Given the description of an element on the screen output the (x, y) to click on. 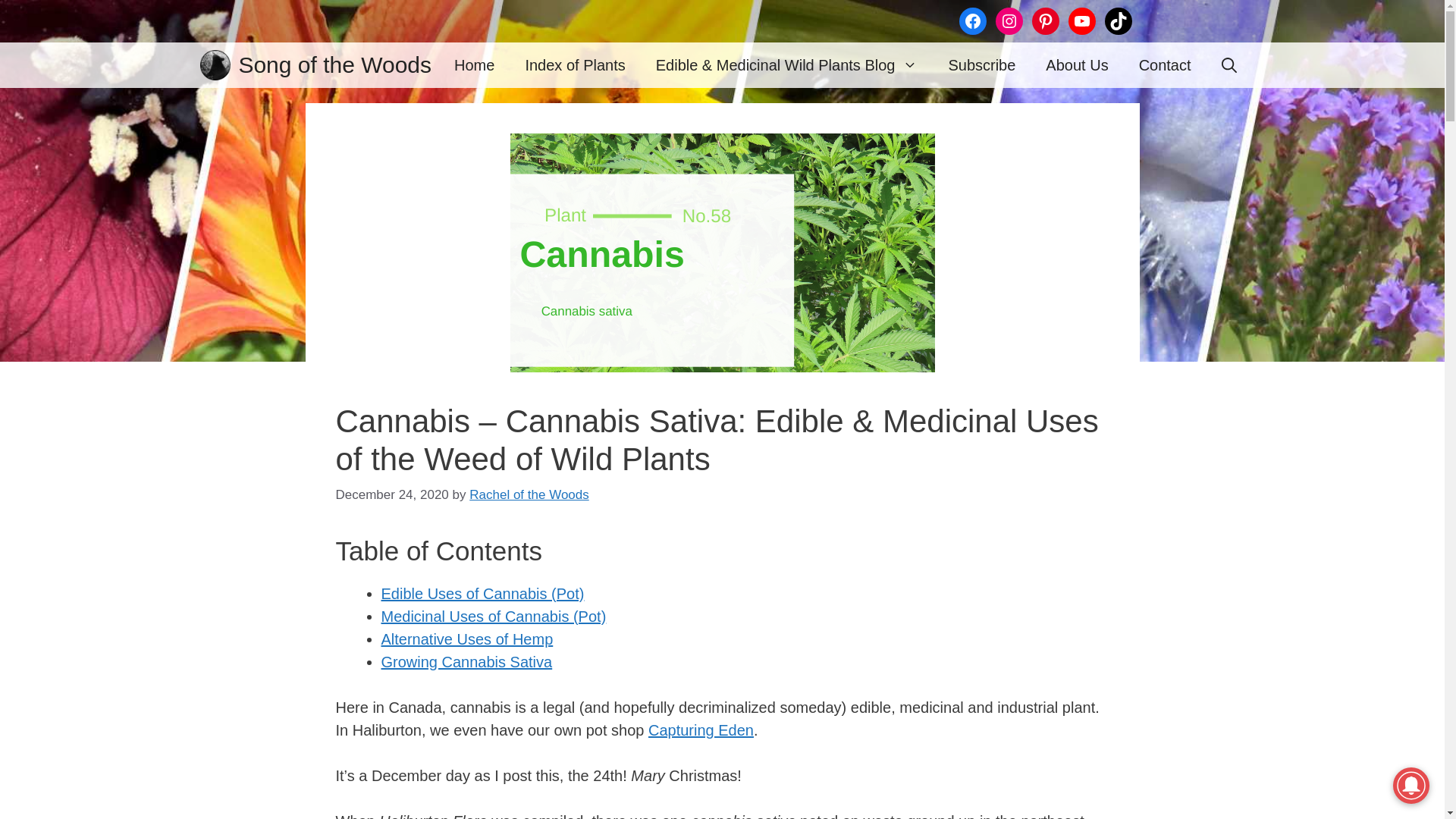
View all posts by Rachel of the Woods (528, 494)
Song of the Woods (334, 64)
Pinterest (1044, 21)
Growing Cannabis Sativa (465, 661)
Alternative Uses of Hemp (466, 638)
Capturing Eden (700, 729)
Rachel of the Woods (528, 494)
Instagram (1008, 21)
Facebook (971, 21)
Song of the Woods (215, 64)
Subscribe (981, 64)
Home (474, 64)
TikTok (1117, 21)
Contact (1165, 64)
Index of Plants (574, 64)
